Given the description of an element on the screen output the (x, y) to click on. 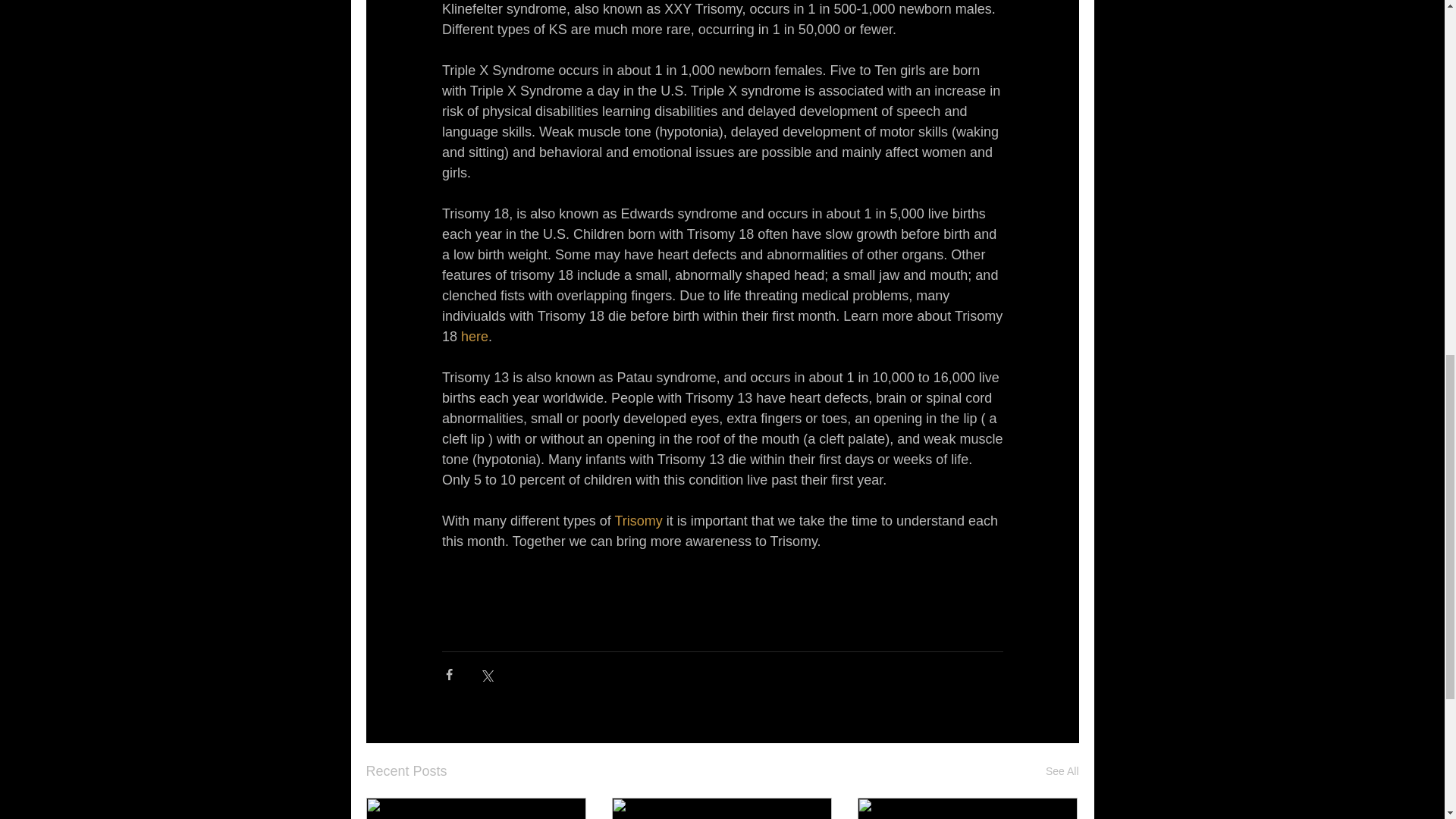
here (474, 336)
Trisomy (638, 520)
See All (1061, 771)
